Given the description of an element on the screen output the (x, y) to click on. 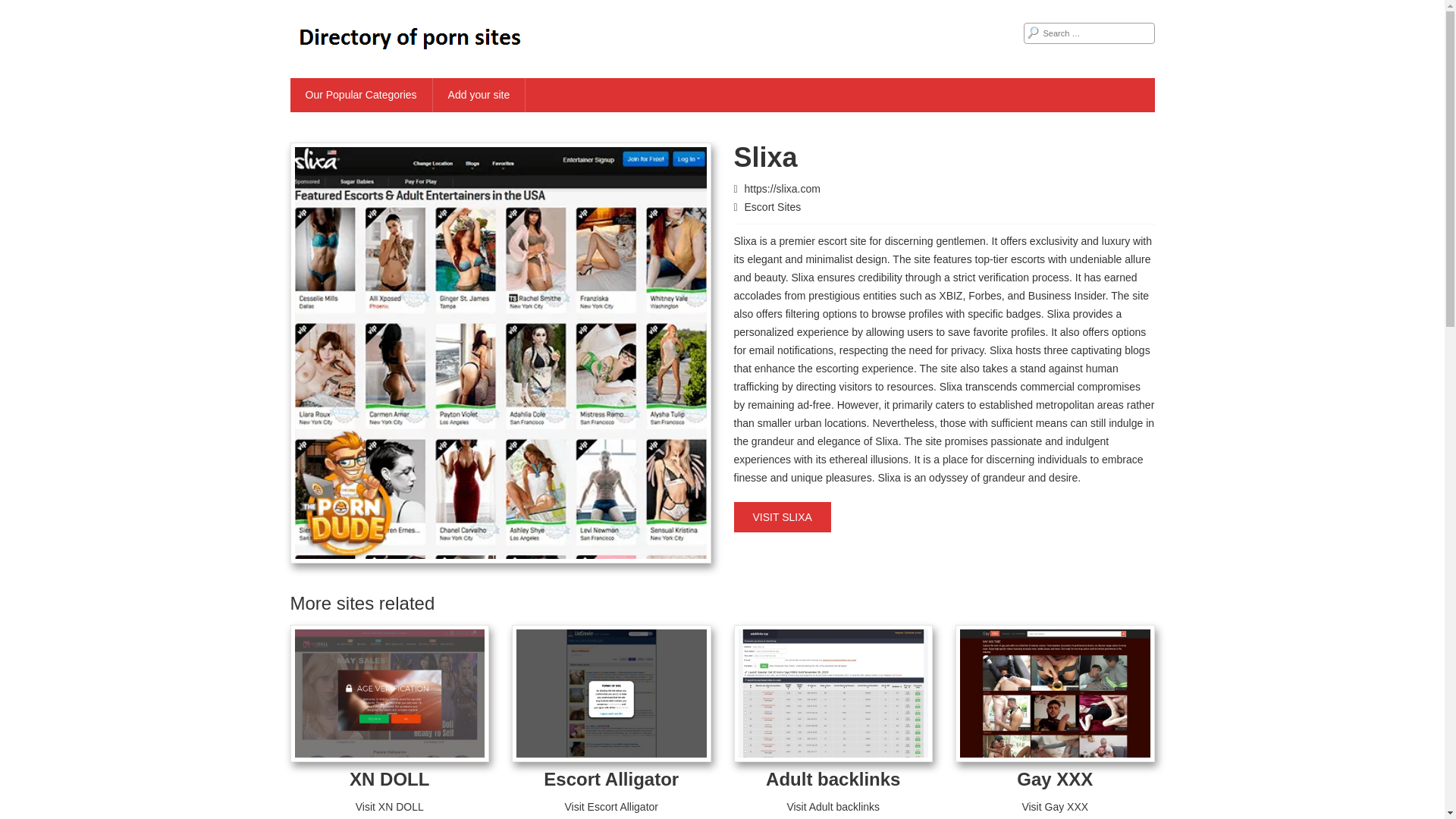
Visit Escort Alligator (611, 806)
Add your site (478, 94)
Our Popular Categories (360, 94)
Visit XN DOLL (389, 806)
VISIT SLIXA (782, 517)
Escort Sites (773, 206)
XN DOLL (389, 779)
Search (22, 9)
Gay XXX (1054, 779)
Adult backlinks (832, 779)
